Given the description of an element on the screen output the (x, y) to click on. 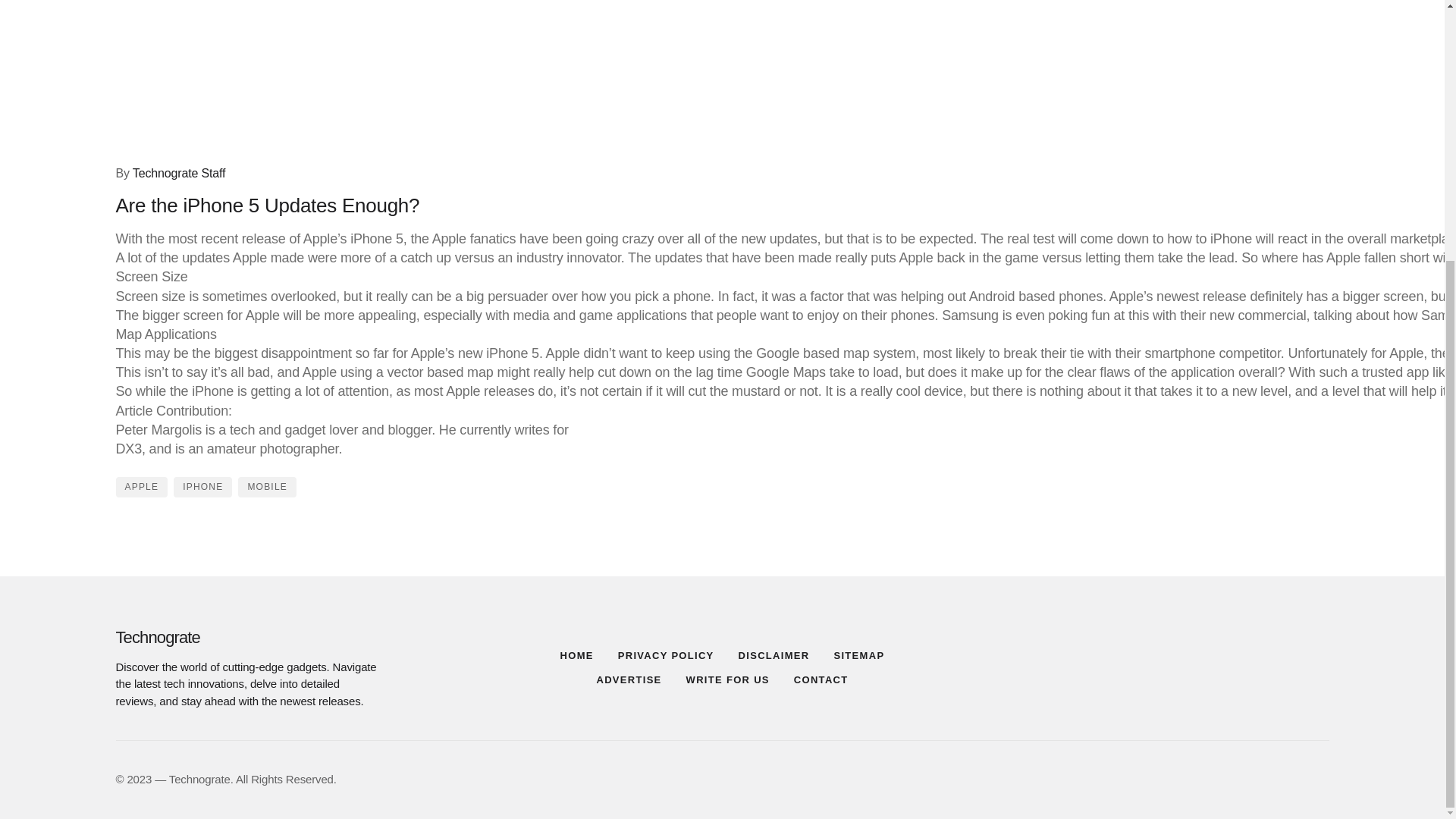
Are the iPhone 5 Updates Enough? (309, 76)
